Given the description of an element on the screen output the (x, y) to click on. 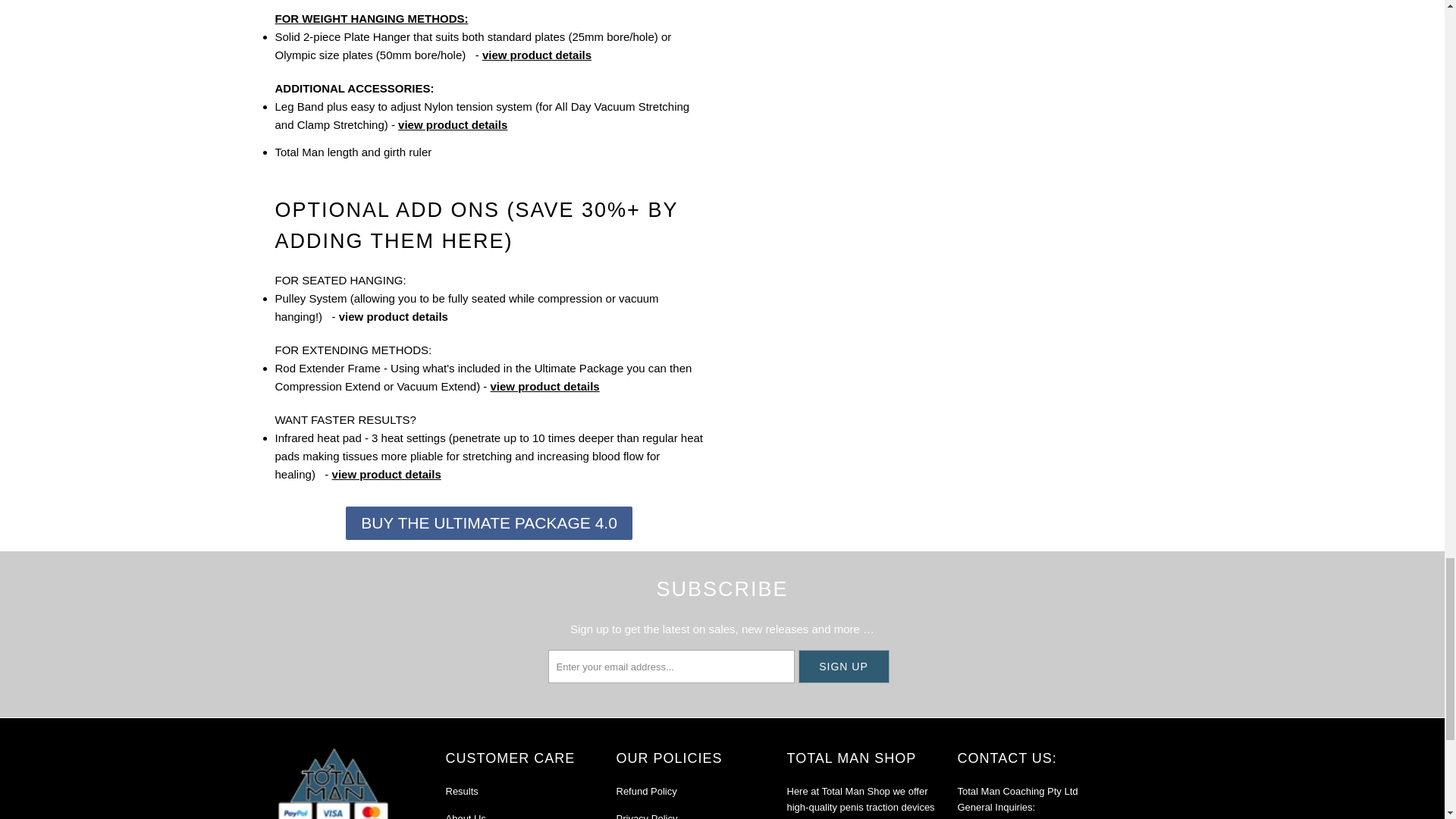
Sign Up (842, 666)
Refund Policy (646, 790)
Privacy Policy (646, 816)
